Given the description of an element on the screen output the (x, y) to click on. 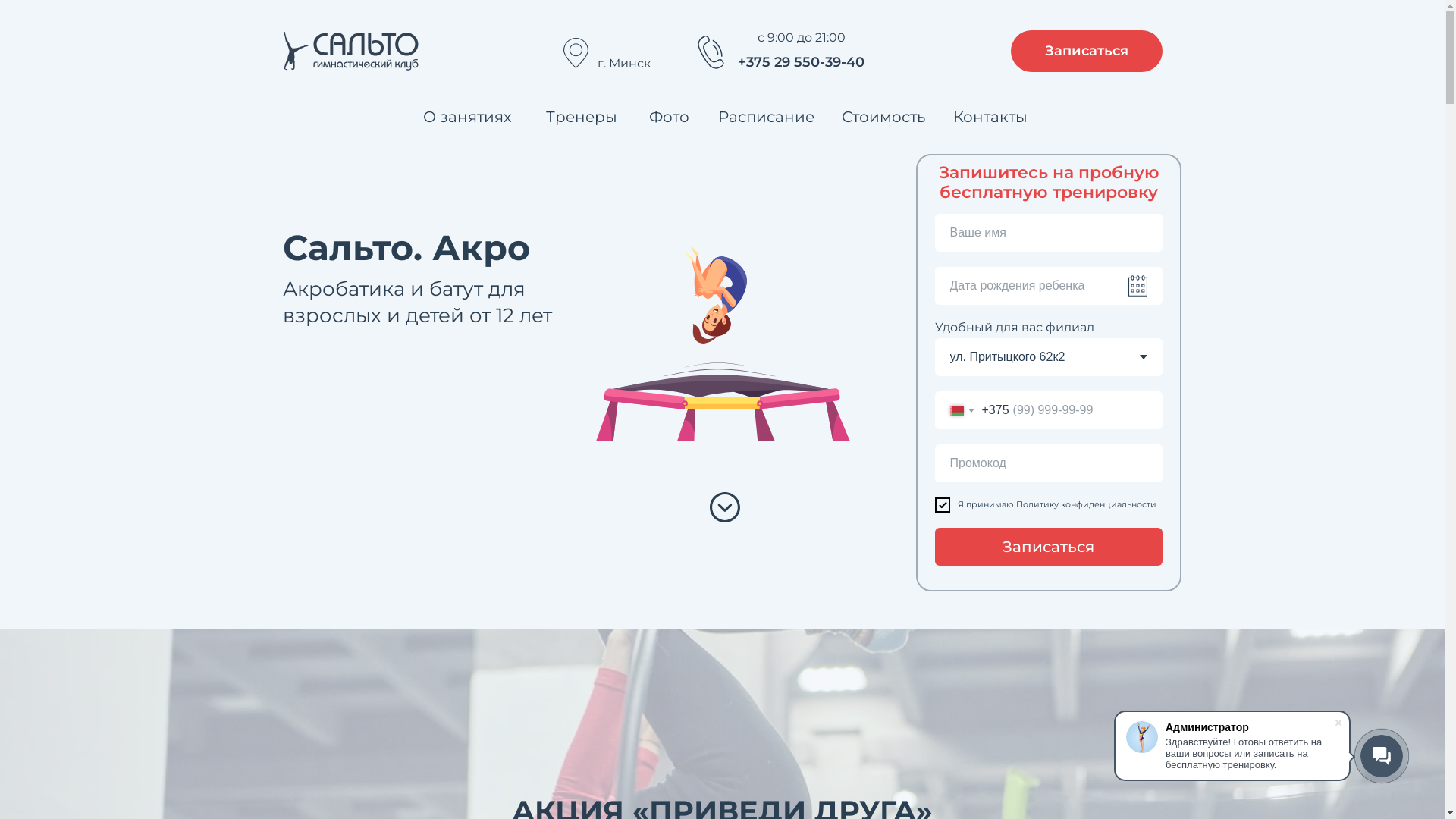
+375 29 550-39-40 Element type: text (800, 62)
